Given the description of an element on the screen output the (x, y) to click on. 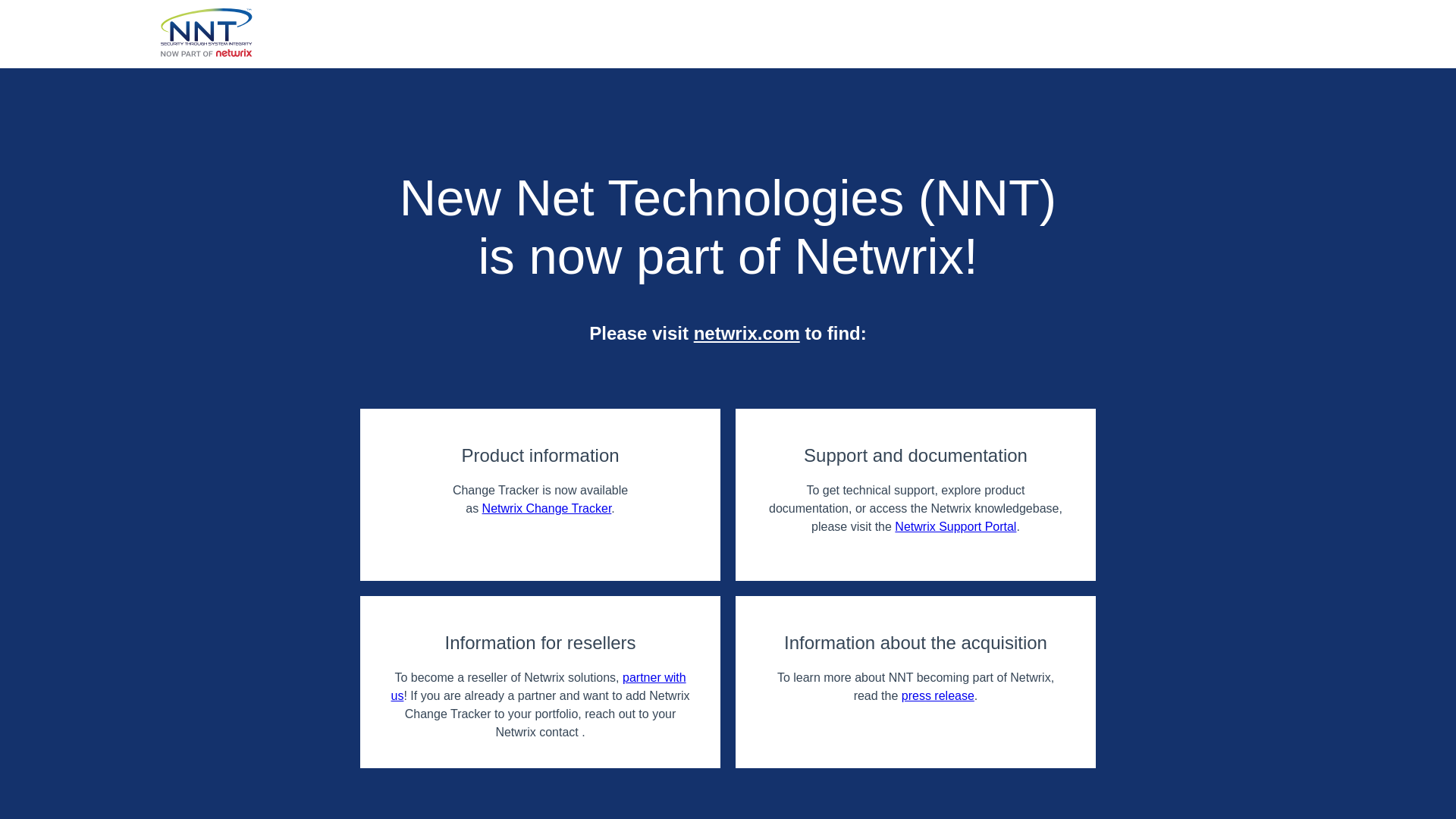
press release (937, 695)
partner with us (538, 685)
Netwrix Change Tracker (546, 508)
Netwrix Support Portal (955, 526)
netwrix.com (746, 332)
